Given the description of an element on the screen output the (x, y) to click on. 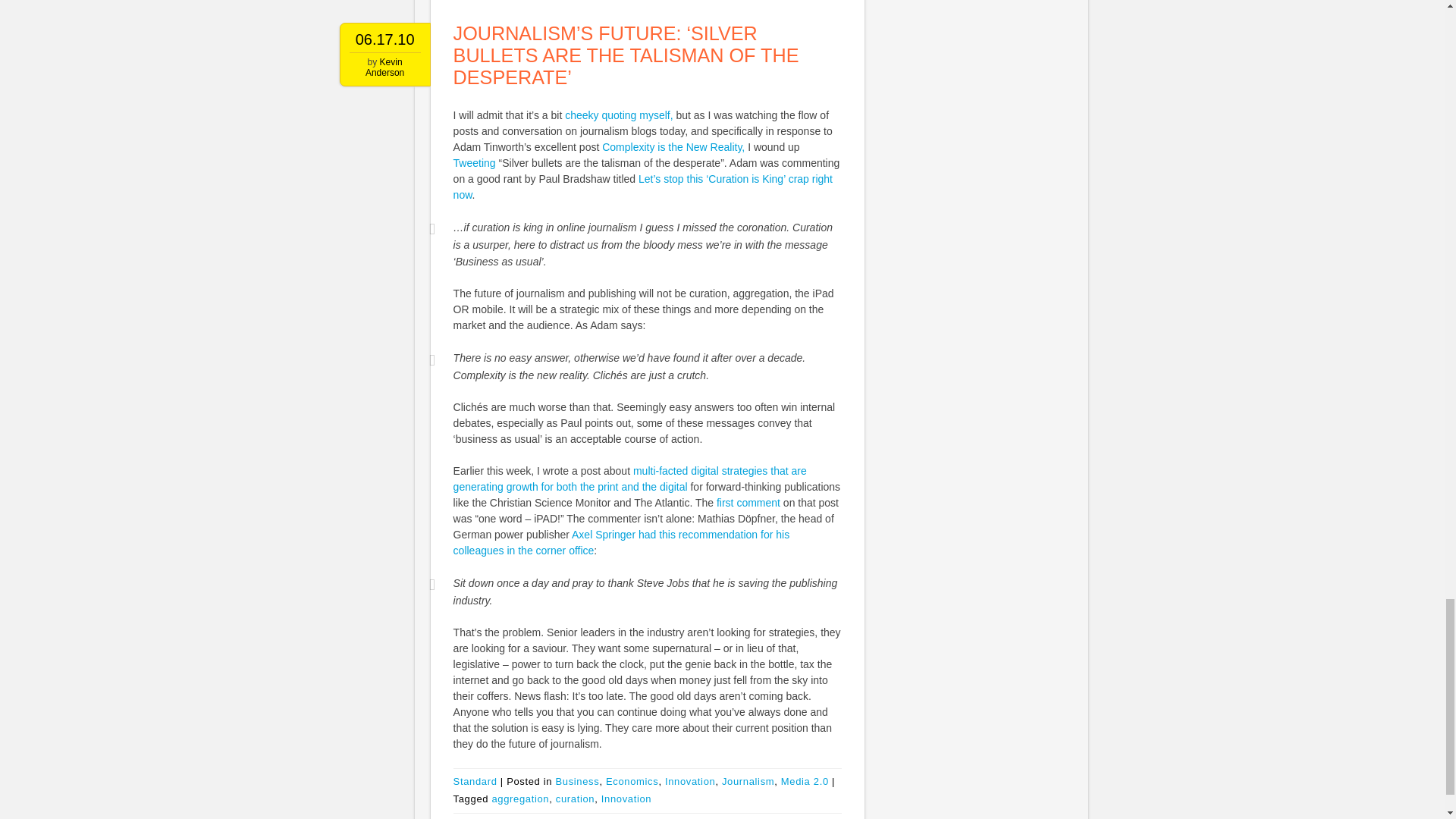
Complexity is the New Reality, (673, 146)
Standard (474, 781)
Innovation (690, 781)
Journalism (748, 781)
aggregation (520, 798)
first comment (748, 502)
Business (576, 781)
Media 2.0 (804, 781)
Economics (631, 781)
